Given the description of an element on the screen output the (x, y) to click on. 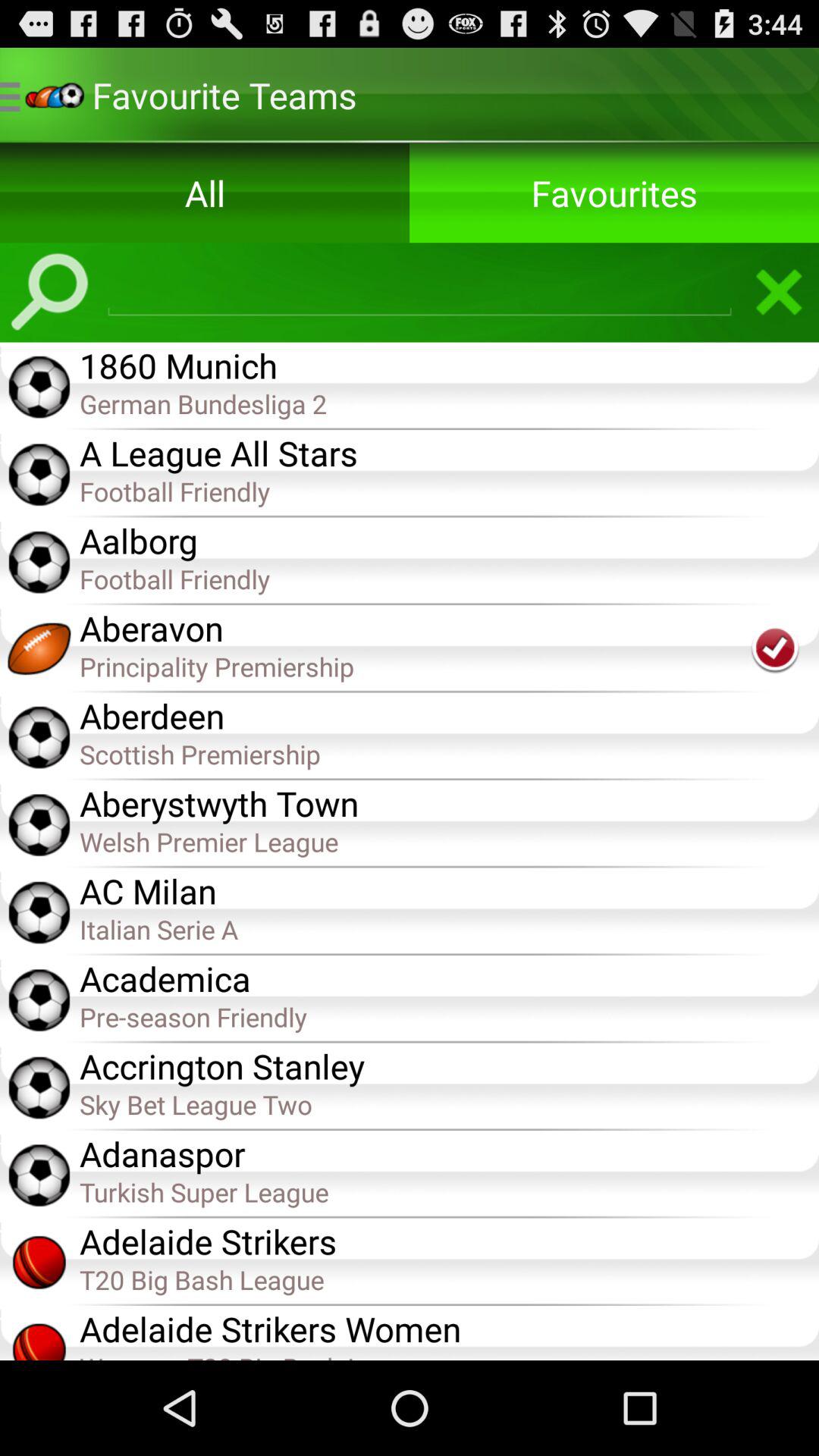
turn on the favourites button (614, 192)
